Given the description of an element on the screen output the (x, y) to click on. 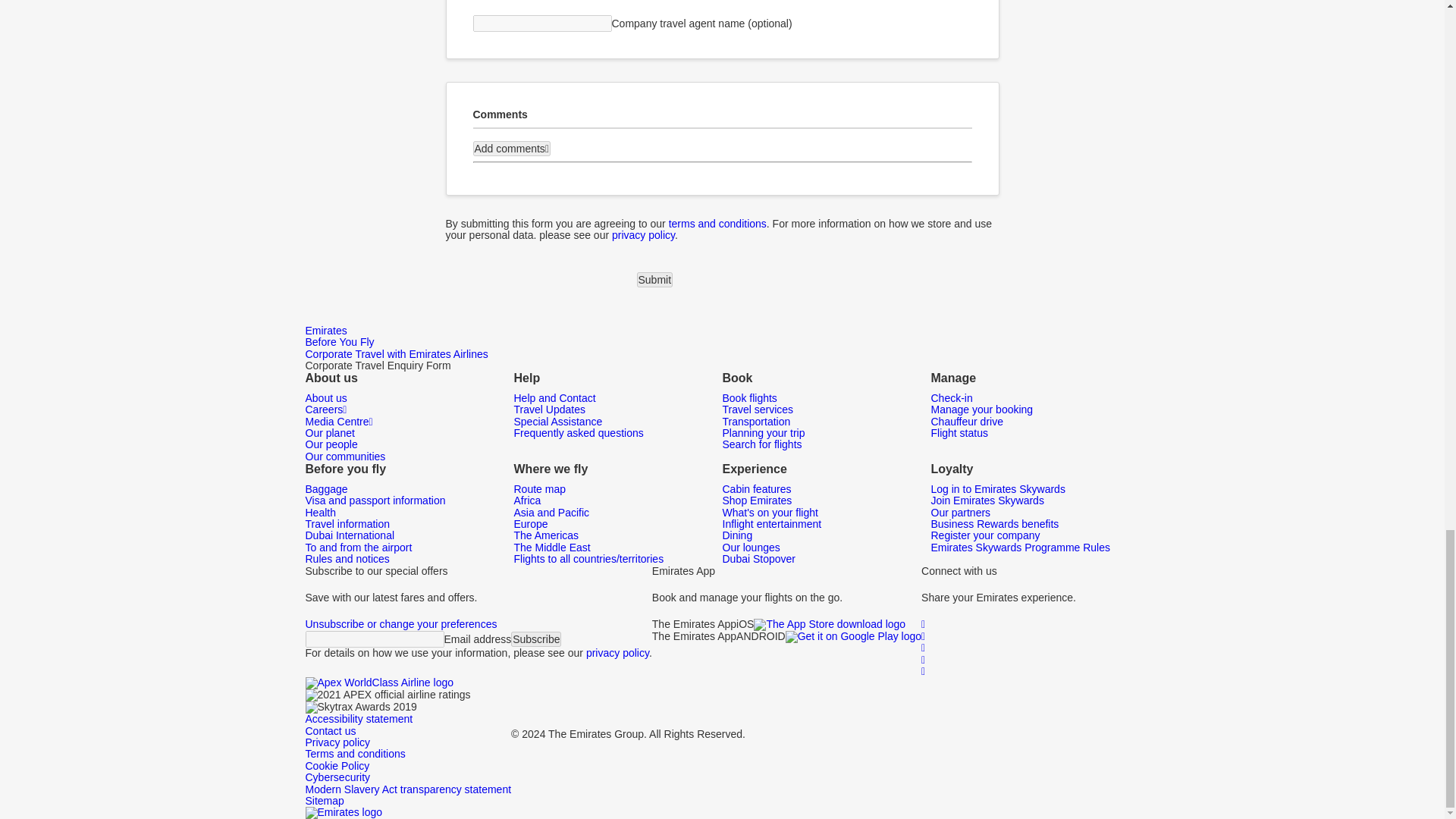
World Class Airline APEX Official Airline Ratings (378, 683)
Unsubscribe or change your preferences (400, 623)
100 FAQ Detail (643, 234)
000 FAQ Index Page Header (717, 223)
privacy policy (617, 653)
Apex five star rating 2021 (387, 695)
